Given the description of an element on the screen output the (x, y) to click on. 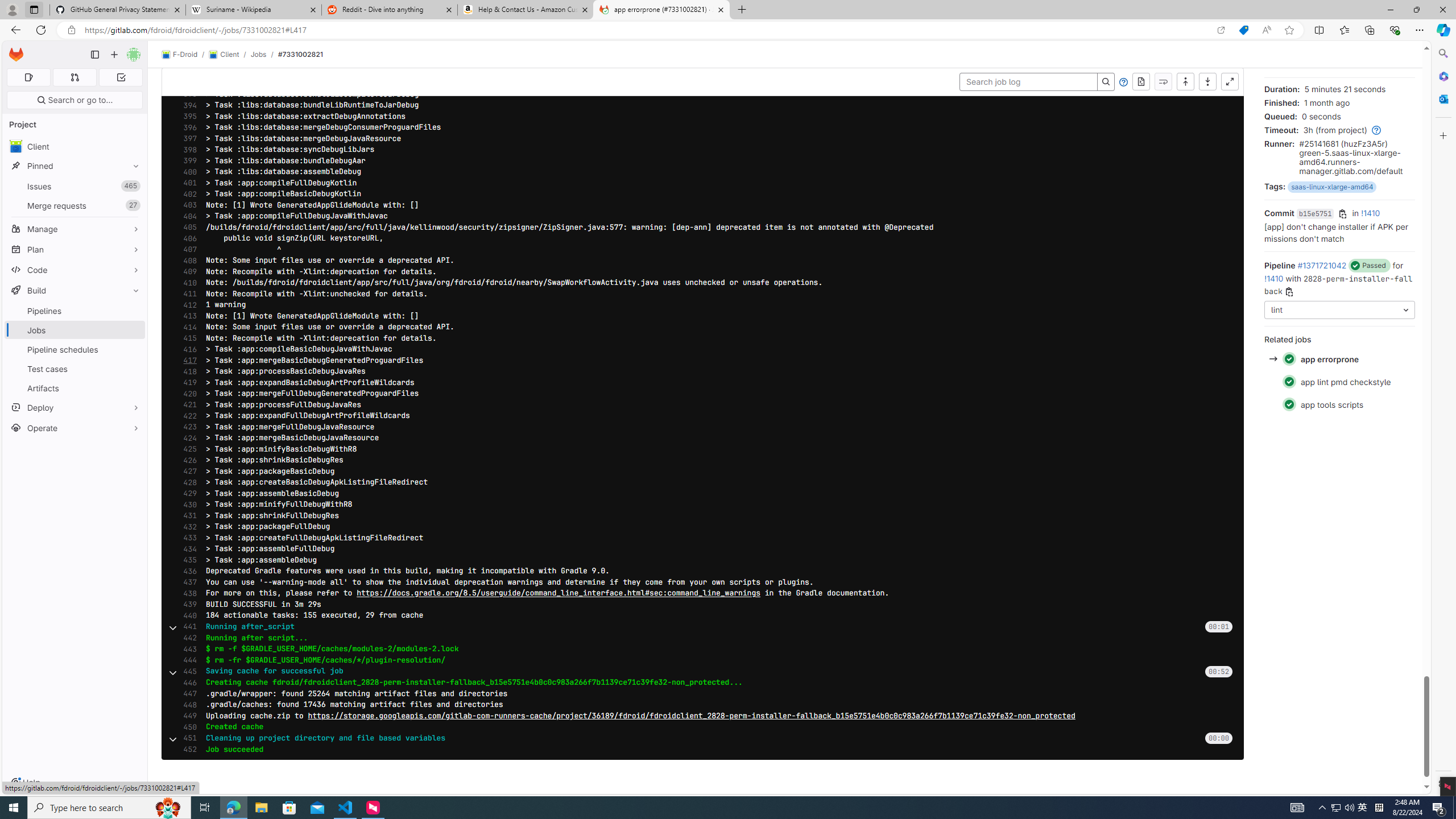
400 (186, 171)
391 (186, 71)
Merge requests27 (74, 205)
438 (186, 593)
444 (186, 659)
#7331002821 (300, 53)
411 (186, 293)
Status: Passed (1288, 404)
Suriname - Wikipedia (253, 9)
Test cases (74, 368)
408 (186, 260)
F-Droid (179, 54)
